Given the description of an element on the screen output the (x, y) to click on. 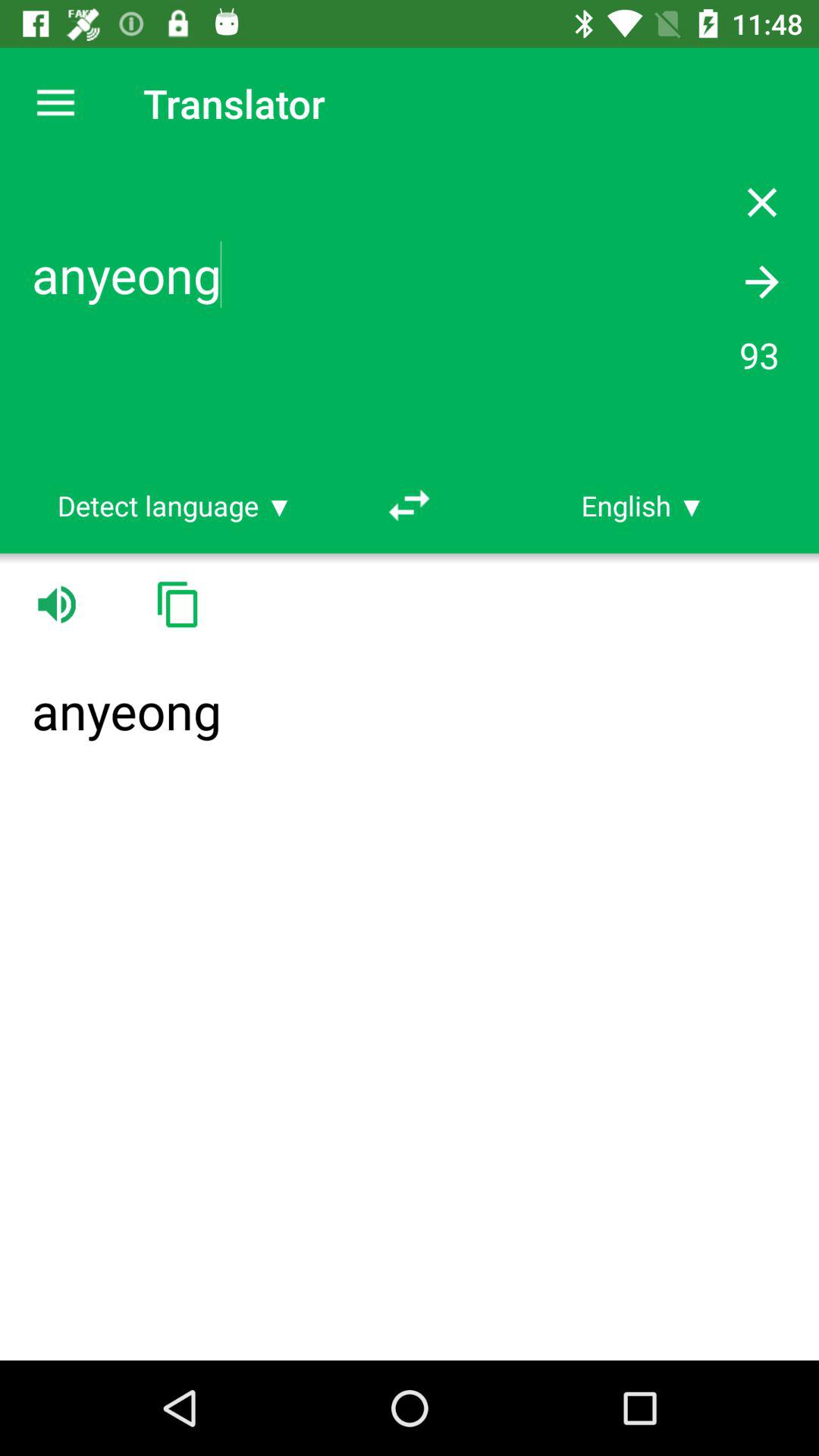
turn on the icon next to translator app (55, 103)
